Given the description of an element on the screen output the (x, y) to click on. 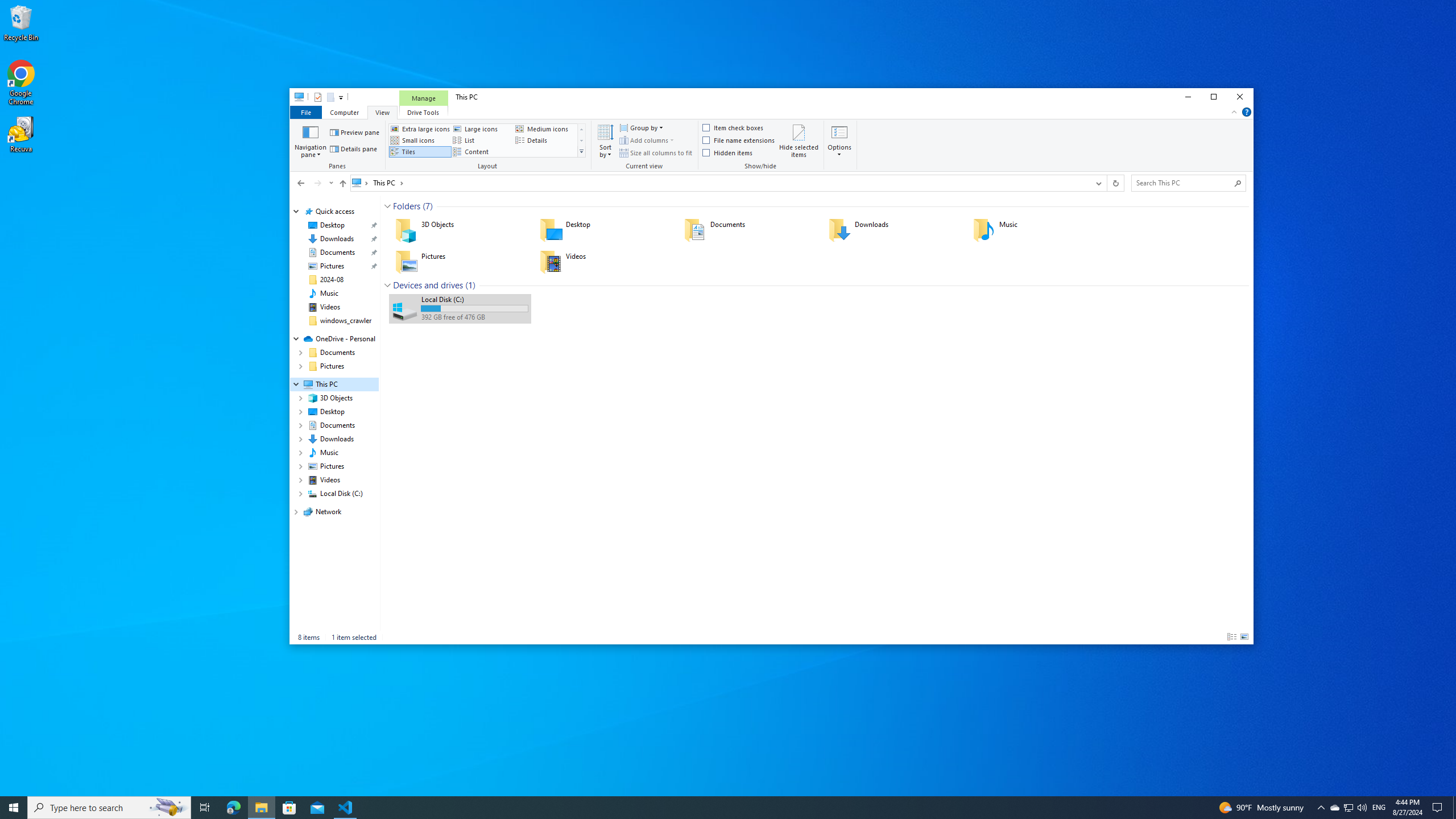
File tab (305, 111)
View (381, 111)
Up band toolbar (342, 184)
Music (328, 293)
Help (1246, 111)
Navigation pane (310, 140)
Show/hide (761, 145)
Size all columns to fit (655, 152)
Minimize (1187, 96)
Current view (645, 145)
All locations (360, 182)
Content (482, 151)
System (295, 98)
Panes (338, 145)
